Given the description of an element on the screen output the (x, y) to click on. 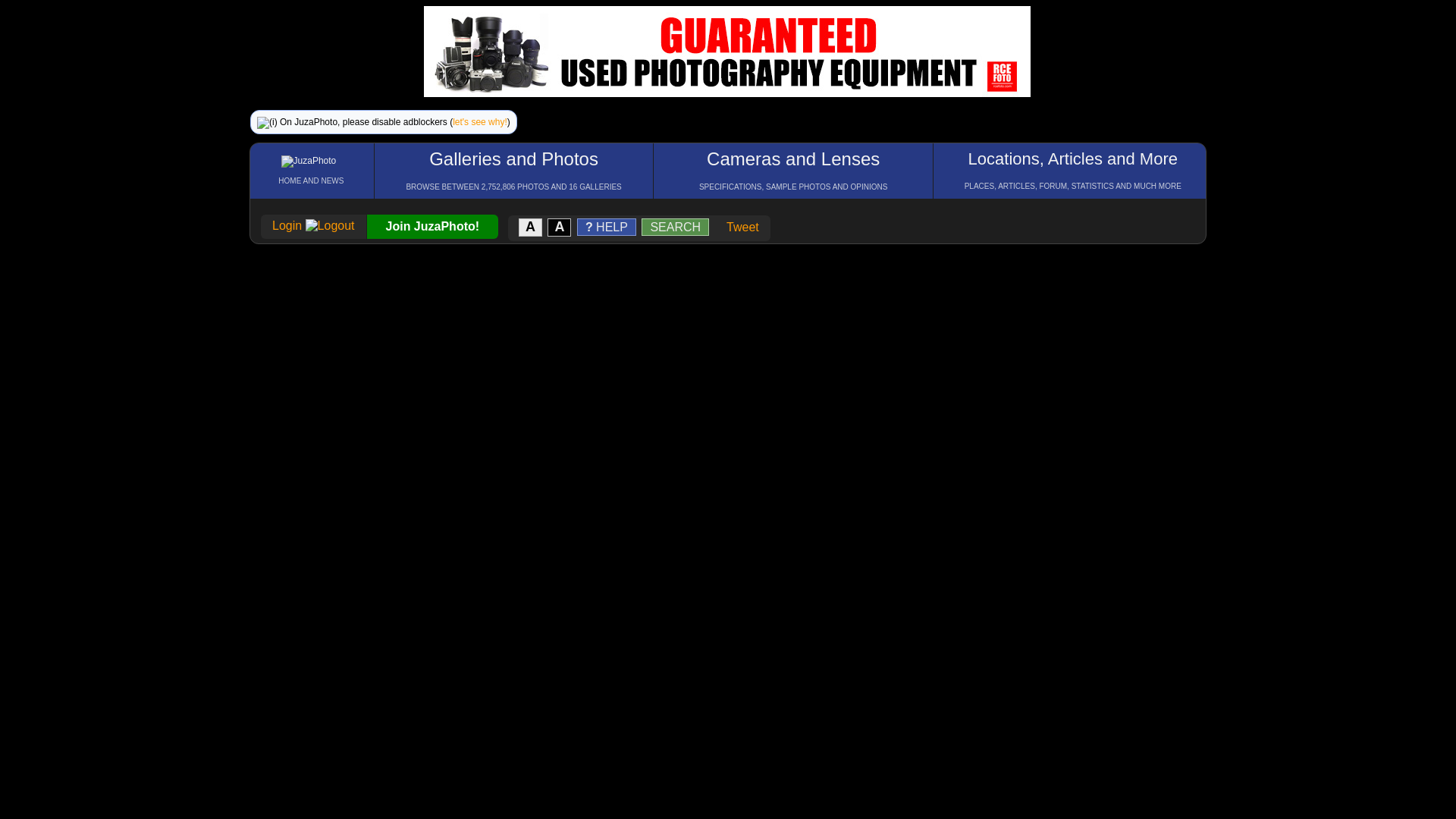
? HELP (607, 226)
Login (313, 225)
Tweet (742, 226)
Join JuzaPhoto! (432, 226)
let's see why! (479, 122)
SEARCH (676, 226)
A (560, 226)
A (531, 226)
